Given the description of an element on the screen output the (x, y) to click on. 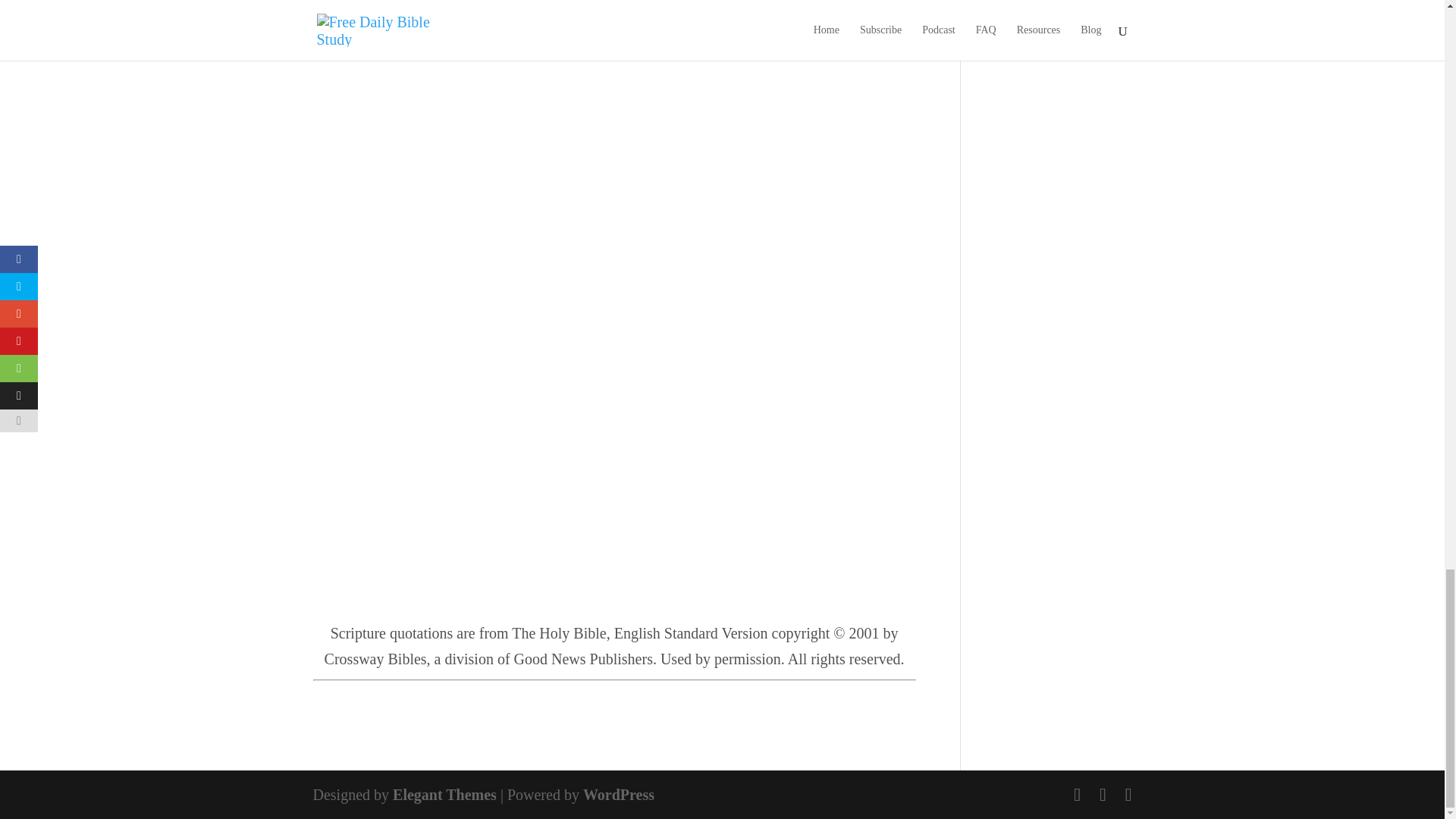
Elegant Themes (444, 794)
Premium WordPress Themes (444, 794)
WordPress (618, 794)
